Given the description of an element on the screen output the (x, y) to click on. 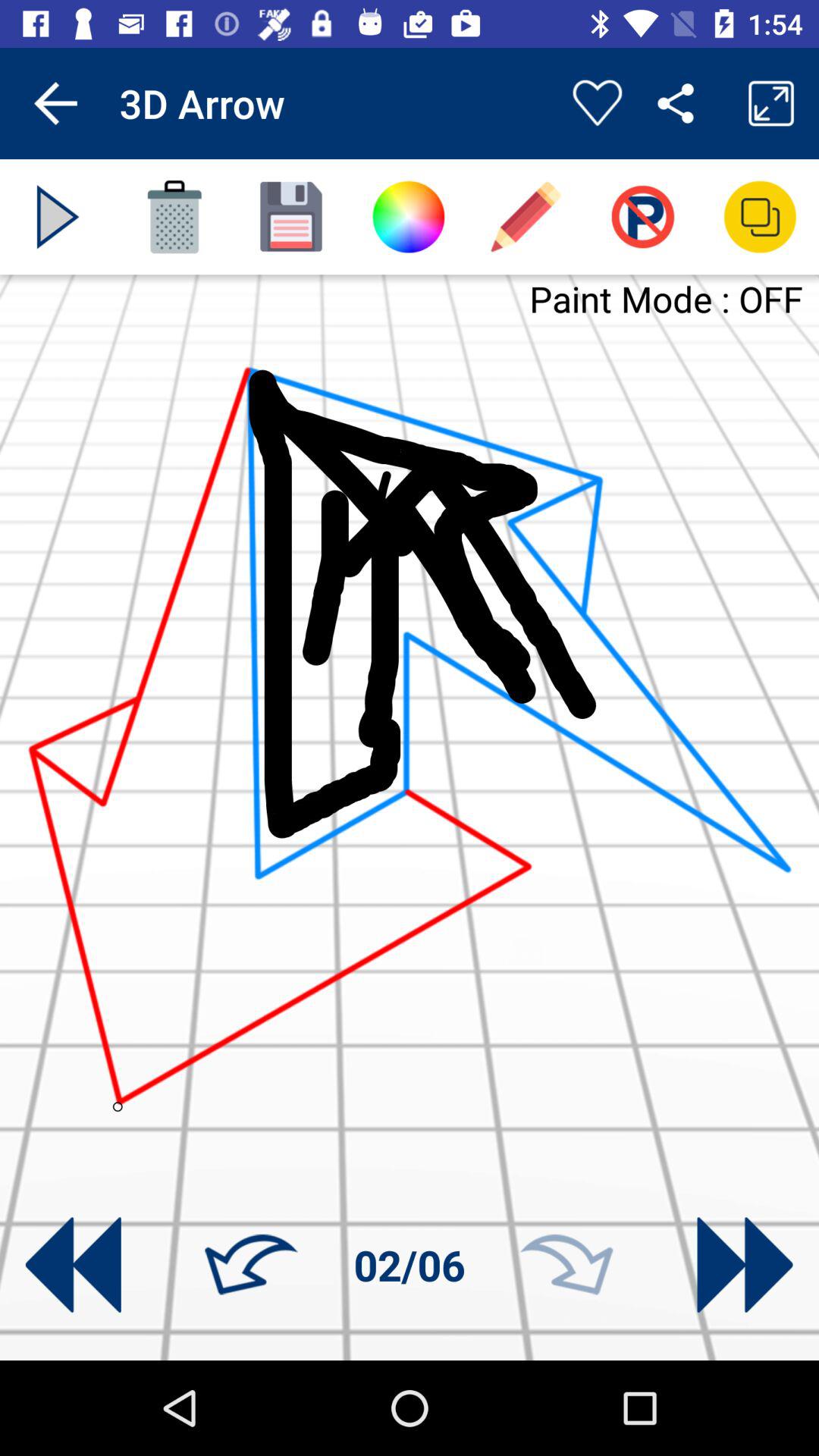
toggle play (58, 216)
